Given the description of an element on the screen output the (x, y) to click on. 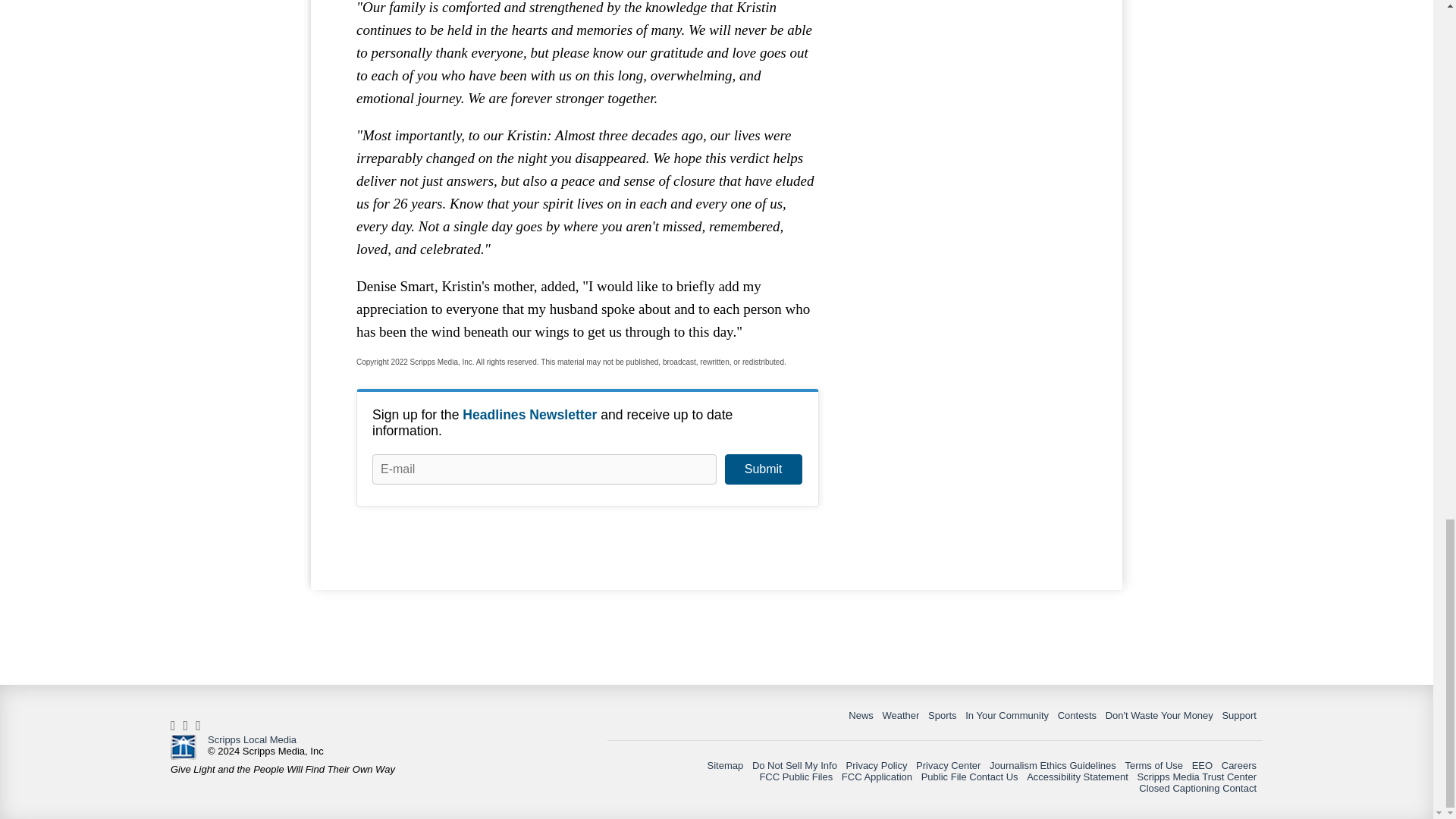
Submit (763, 469)
